Given the description of an element on the screen output the (x, y) to click on. 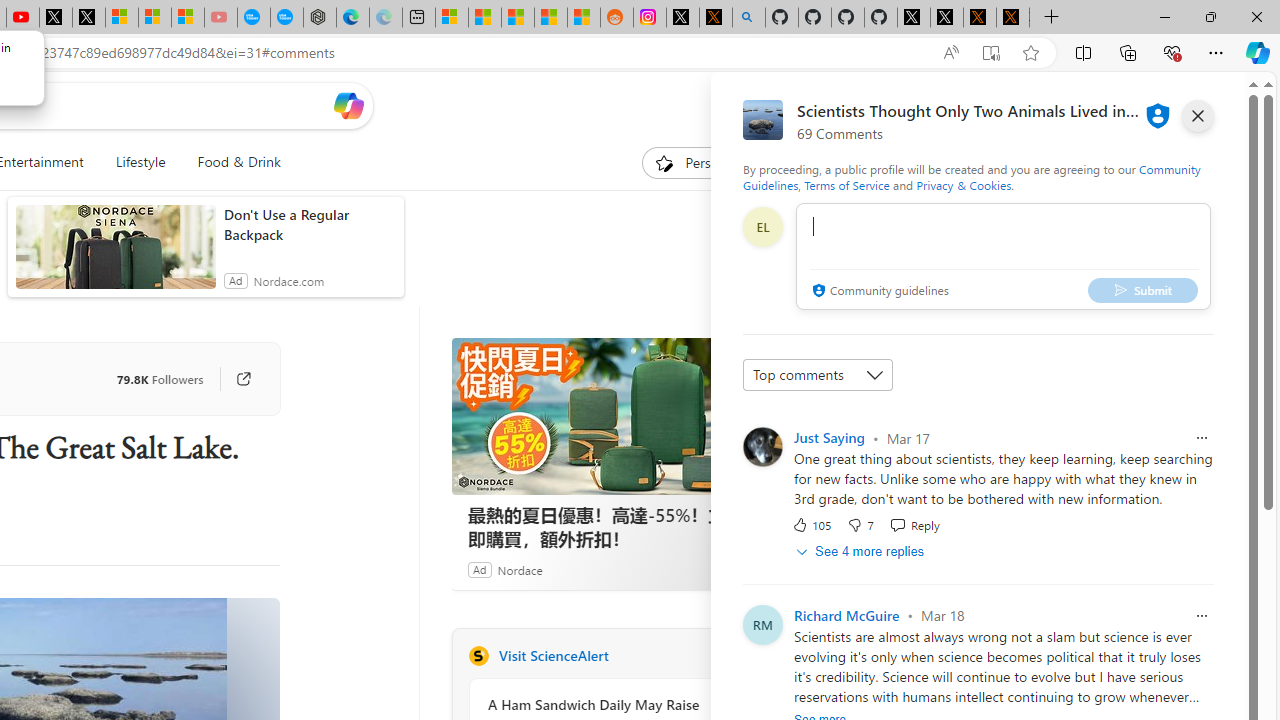
105 Like (811, 524)
Visit ScienceAlert website (726, 655)
github - Search (749, 17)
Profile / X (914, 17)
comment-box (1003, 256)
close (1197, 115)
